Given the description of an element on the screen output the (x, y) to click on. 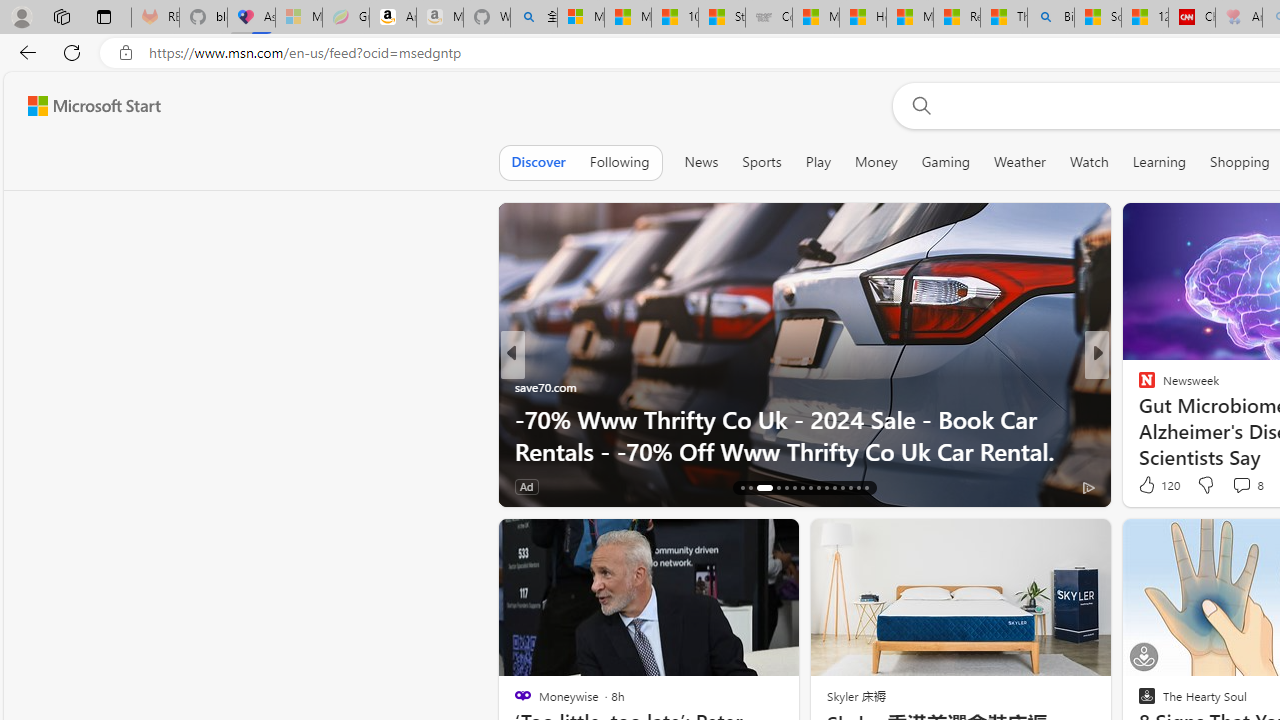
Learning (1159, 162)
View comments 4 Comment (1234, 486)
Homes & Gardens (1138, 386)
12 Popular Science Lies that Must be Corrected (1145, 17)
View comments 203 Comment (1234, 485)
View comments 66 Comment (619, 485)
AutomationID: tab-20 (786, 487)
Asthma Inhalers: Names and Types (251, 17)
AutomationID: tab-23 (810, 487)
Pegasystems (1164, 418)
